Given the description of an element on the screen output the (x, y) to click on. 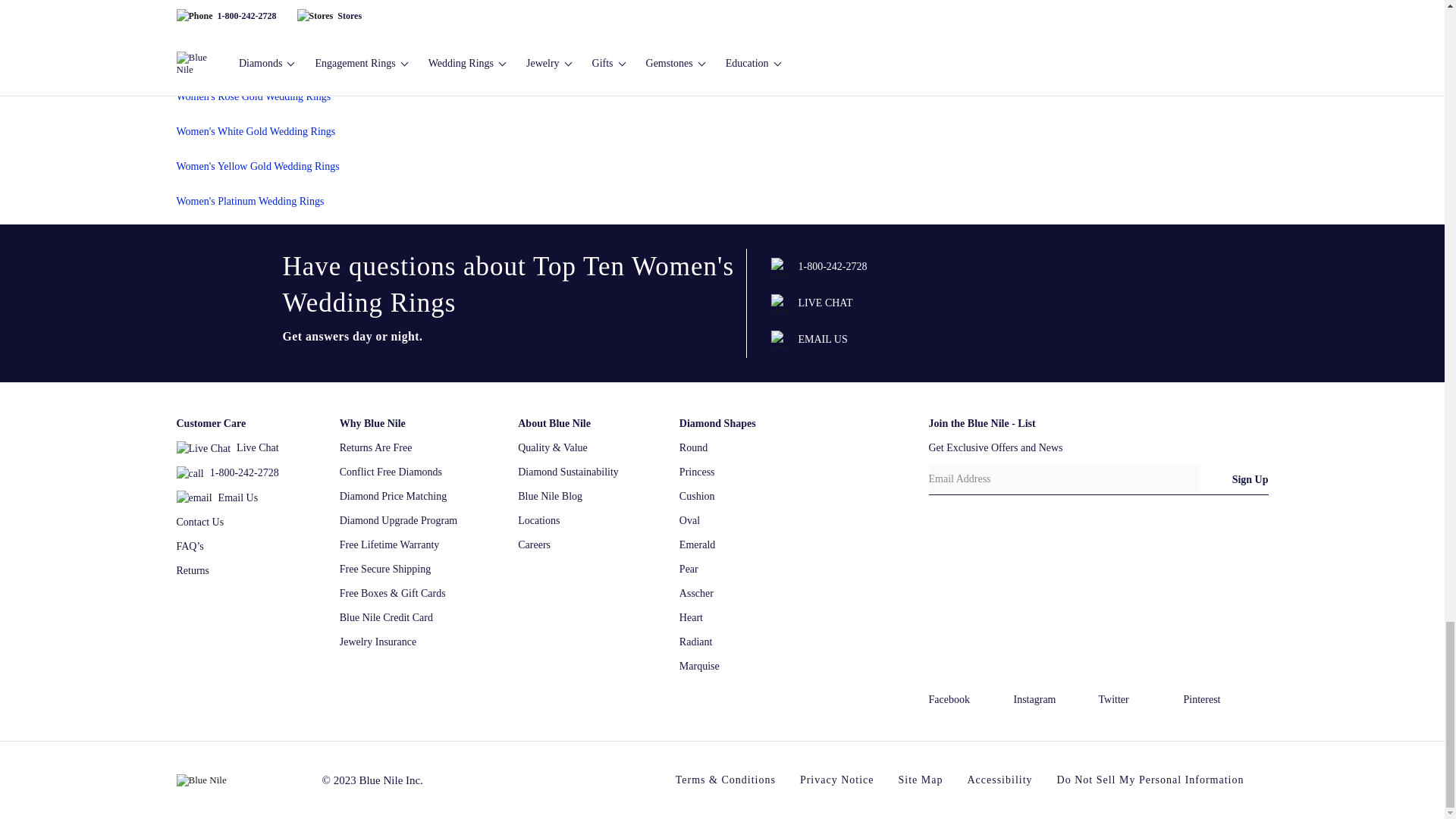
Women's Rose Gold Wedding Rings (253, 96)
chat (779, 303)
Women's Platinum Wedding Rings (249, 201)
email (779, 339)
Women's Diamond Rings (229, 26)
Women's Yellow Gold Wedding Rings (257, 165)
Women's Eternity Wedding Rings (247, 61)
Call (818, 266)
phone (779, 266)
Women's White Gold Wedding Rings (255, 131)
